Given the description of an element on the screen output the (x, y) to click on. 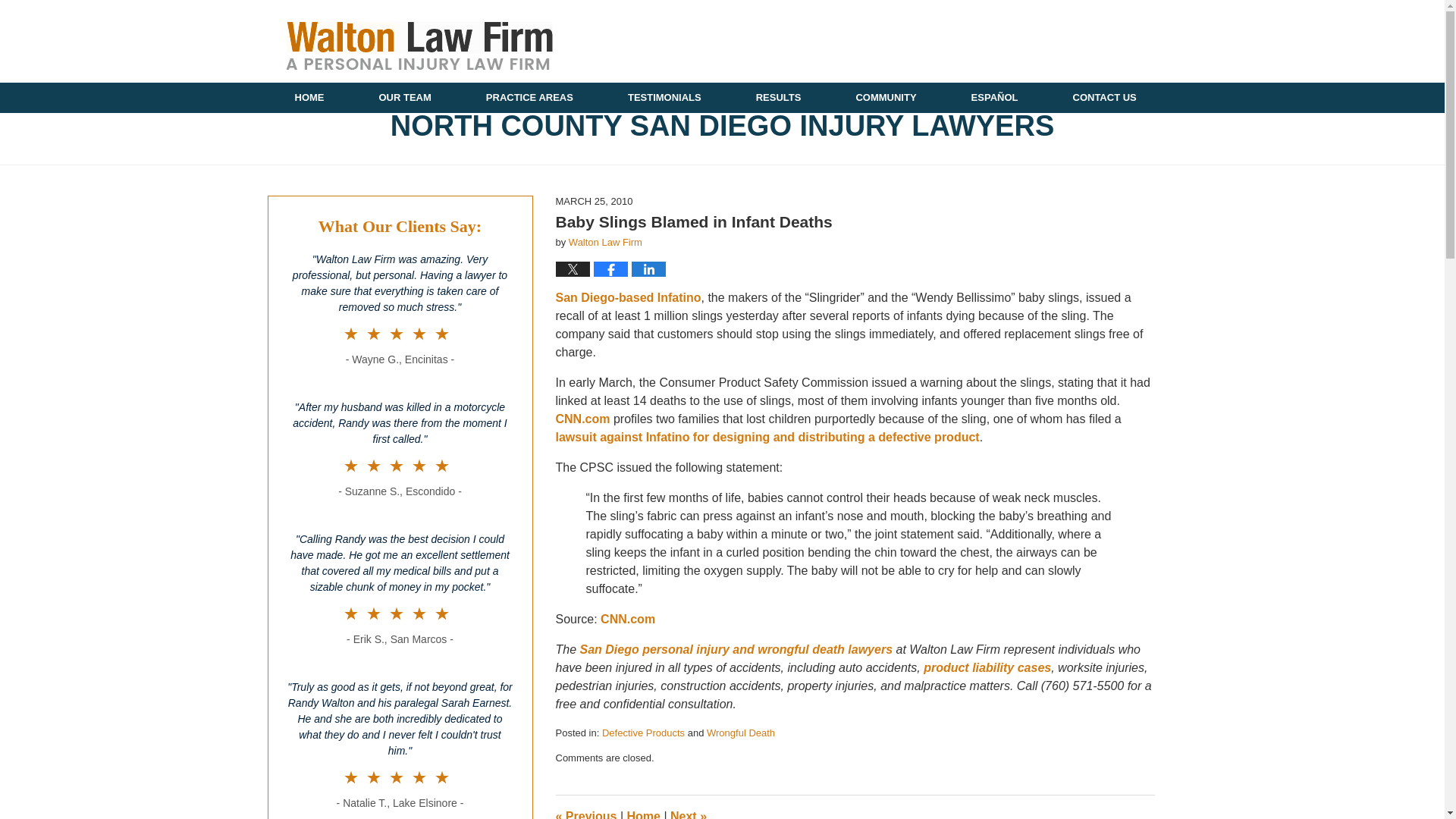
TESTIMONIALS (664, 97)
CNN.com (583, 418)
CONTACT US (1104, 97)
San Diego personal injury and wrongful death lawyers (737, 649)
OUR TEAM (405, 97)
San Diego Paramedic Killed Responding to Car Accident (687, 814)
Home (642, 814)
PRACTICE AREAS (528, 97)
COMMUNITY (885, 97)
Wrongful Death (740, 732)
Published By Walton Law Firm (1072, 45)
CNN.com (627, 618)
Defective Products (643, 732)
NORTH COUNTY SAN DIEGO INJURY LAWYERS (721, 126)
